Given the description of an element on the screen output the (x, y) to click on. 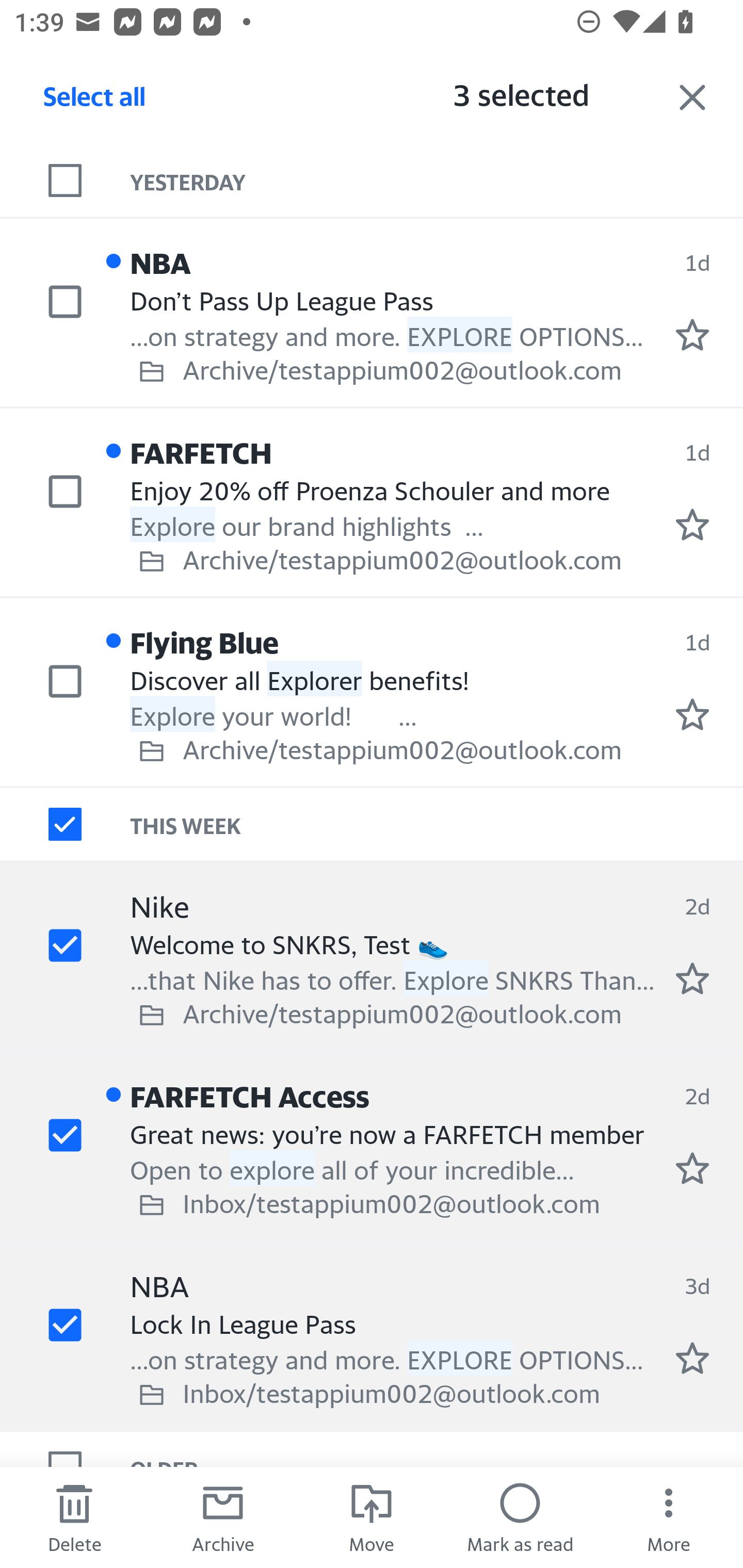
Exit selection mode (692, 97)
Select all (94, 101)
YESTERDAY (436, 180)
Mark as starred. (692, 334)
Mark as starred. (692, 524)
Mark as starred. (692, 714)
THIS WEEK (436, 823)
Mark as starred. (692, 978)
Mark as starred. (692, 1168)
Mark as starred. (692, 1358)
Delete (74, 1517)
Archive (222, 1517)
Move (371, 1517)
Mark as read (519, 1517)
More (668, 1517)
